Given the description of an element on the screen output the (x, y) to click on. 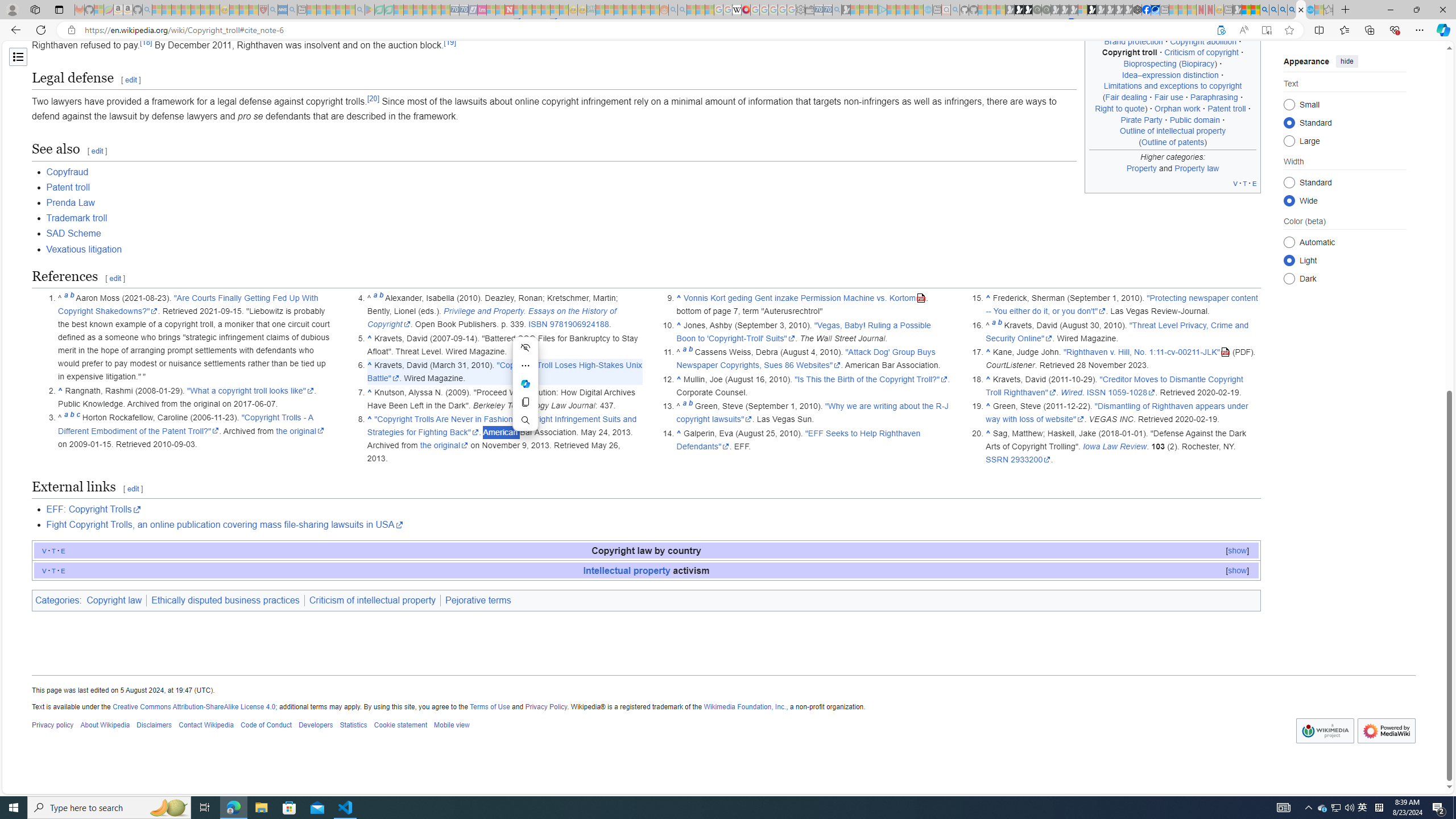
Outline of patents (1172, 141)
Light (1289, 259)
Trademark troll (653, 218)
14 Common Myths Debunked By Scientific Facts - Sleeping (527, 9)
Mini menu on text selection (525, 390)
Pets - MSN - Sleeping (340, 9)
google - Search - Sleeping (359, 9)
Sign in to your account - Sleeping (1082, 9)
Trademark troll (76, 217)
Privilege and Property. Essays on the History of Copyright (490, 317)
9781906924188 (578, 324)
